Given the description of an element on the screen output the (x, y) to click on. 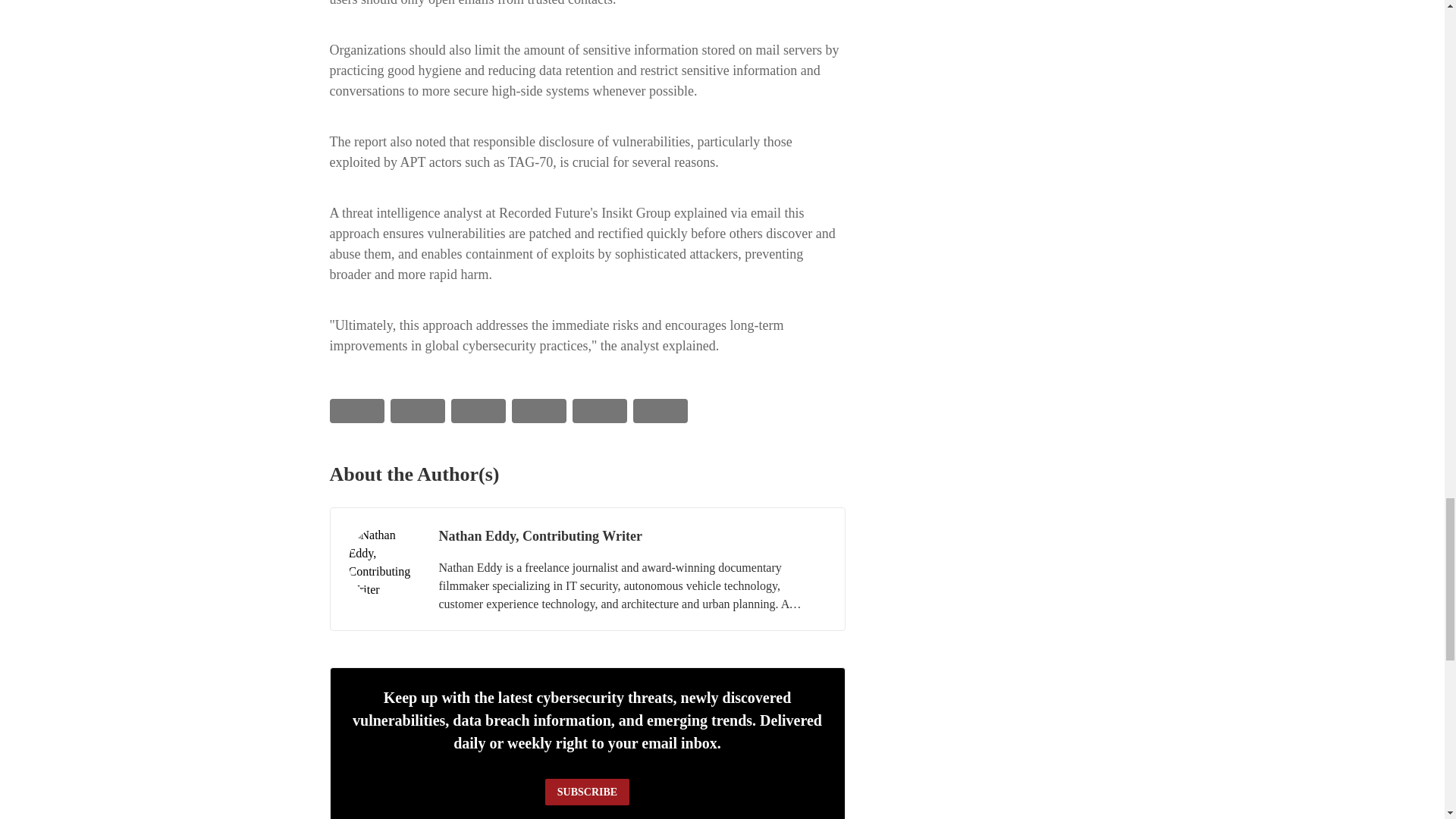
Nathan Eddy, Contributing Writer (384, 562)
